Given the description of an element on the screen output the (x, y) to click on. 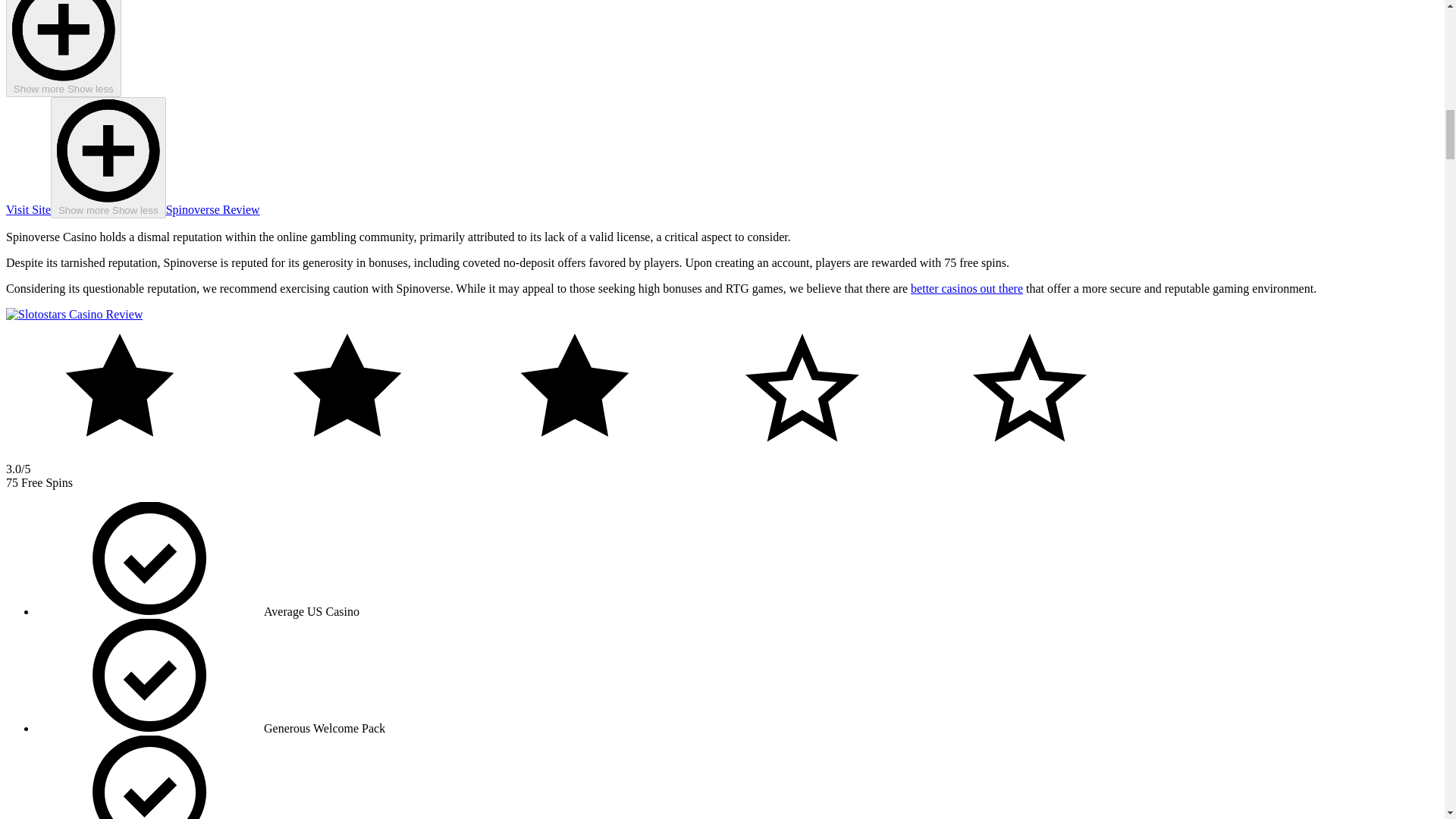
better casinos out there (967, 287)
Show more Show less (62, 48)
Show more Show less (107, 157)
Visit Site (27, 209)
Spinoverse Review (212, 209)
